Given the description of an element on the screen output the (x, y) to click on. 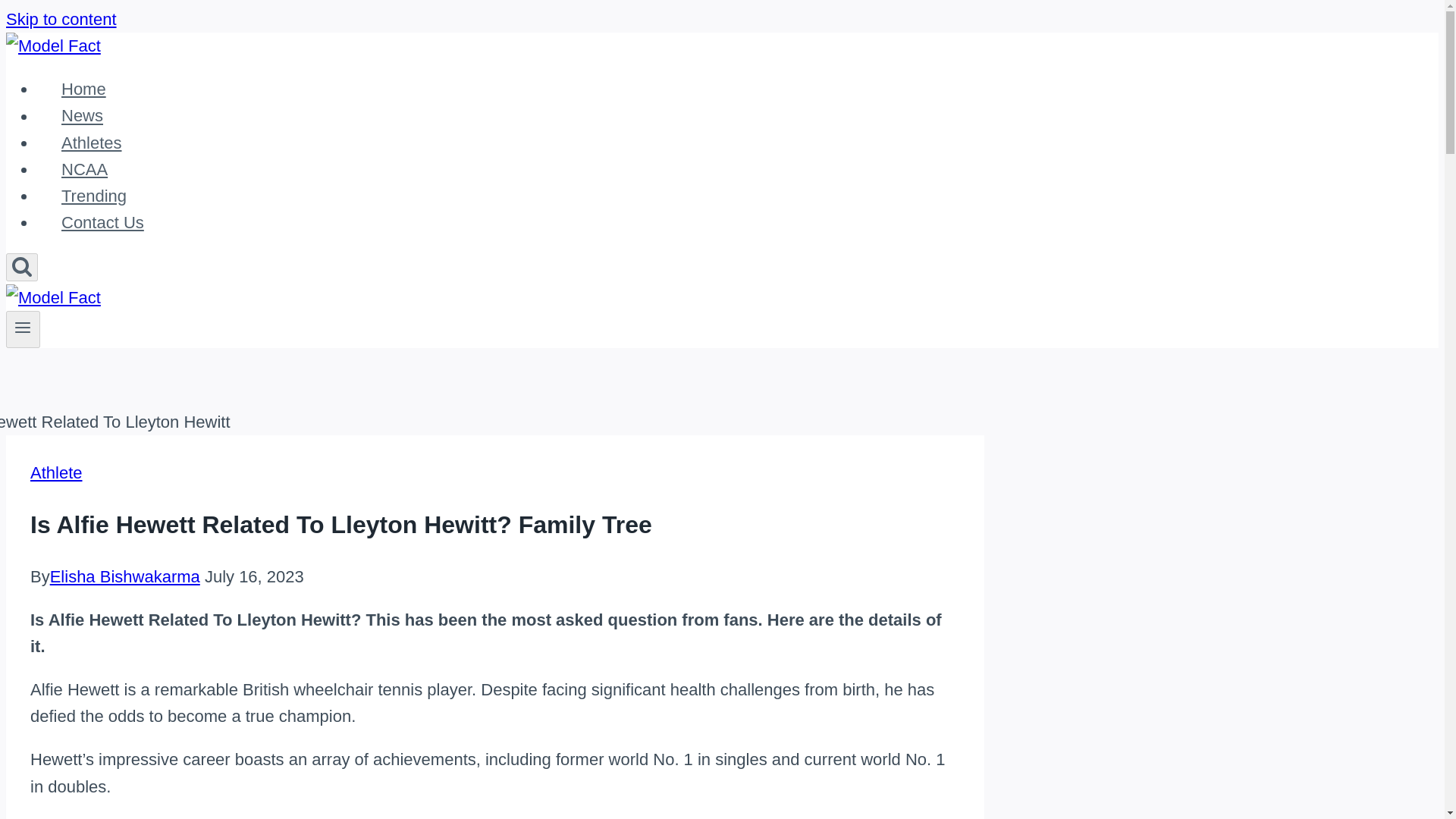
Athletes (91, 142)
Search (21, 267)
Toggle Menu (22, 329)
Contact Us (102, 222)
Skip to content (60, 18)
Athlete (56, 472)
NCAA (84, 169)
Skip to content (60, 18)
Toggle Menu (22, 327)
Search (21, 265)
Elisha Bishwakarma (124, 576)
News (82, 115)
Trending (93, 195)
Home (83, 88)
